Given the description of an element on the screen output the (x, y) to click on. 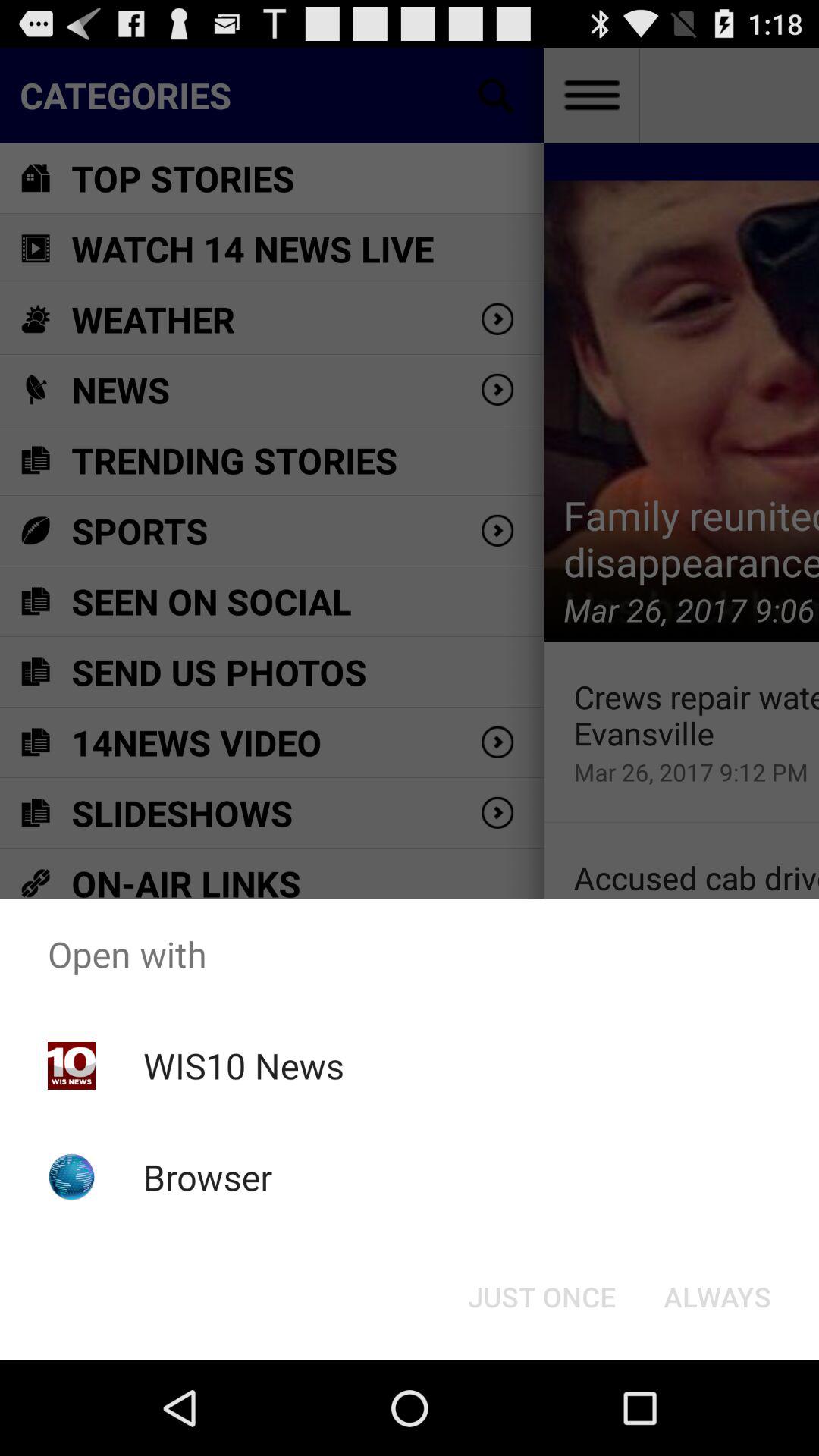
open the icon below open with (243, 1065)
